Given the description of an element on the screen output the (x, y) to click on. 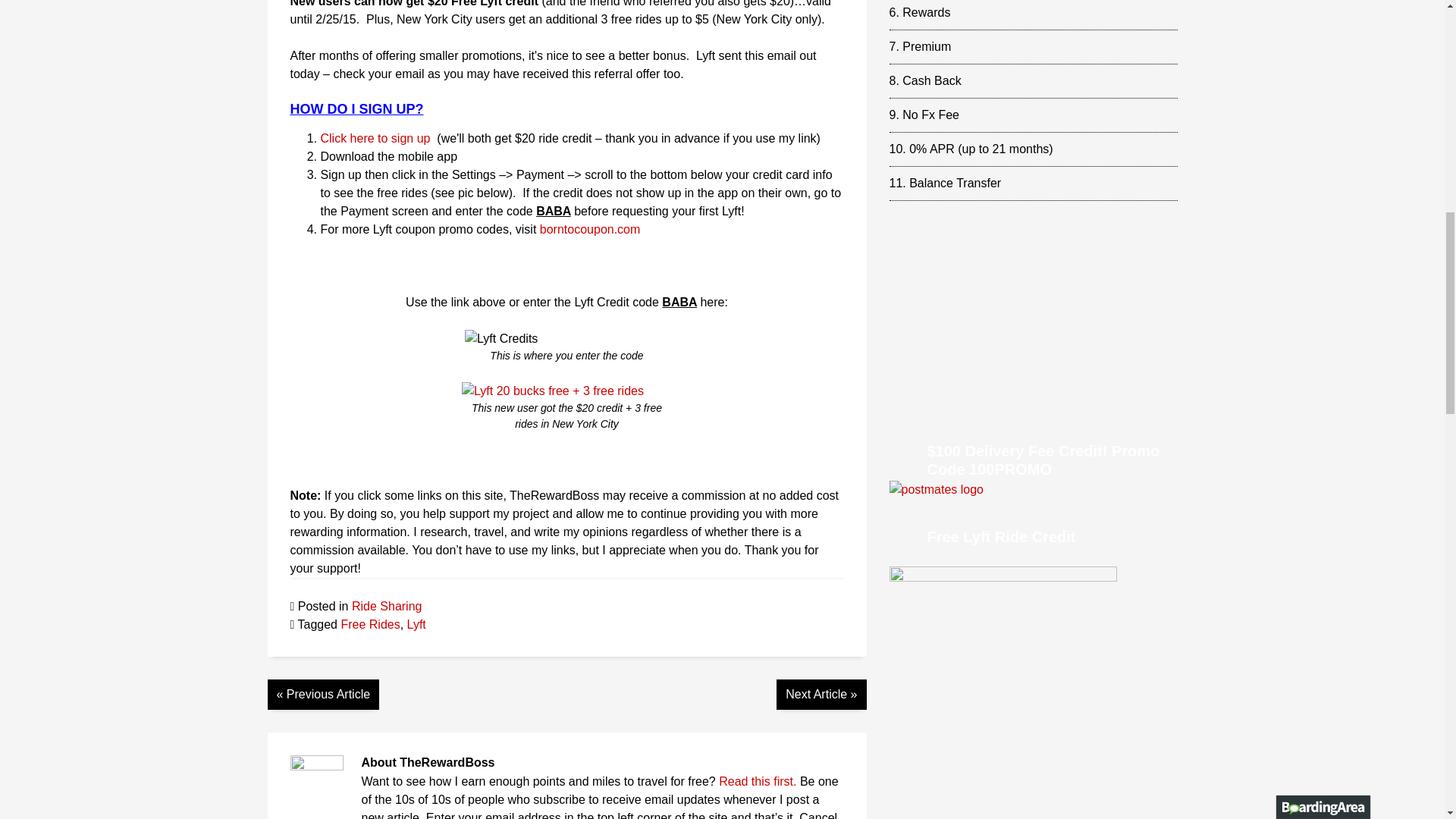
Lyft (416, 624)
borntocoupon.com (590, 228)
Read this first. (757, 780)
Ride Sharing (387, 605)
Click here to sign up (374, 137)
Free Rides (369, 624)
